Given the description of an element on the screen output the (x, y) to click on. 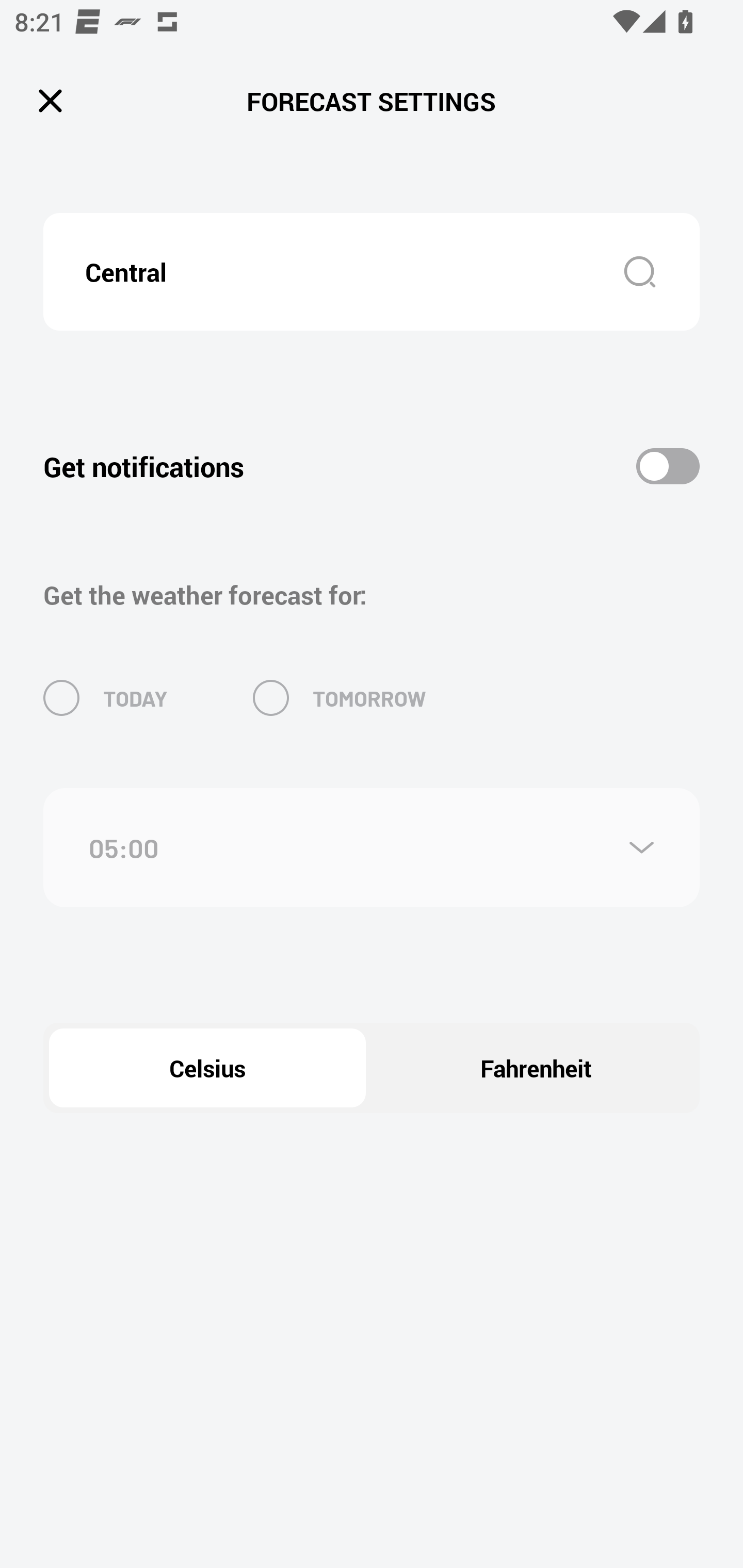
Leading Icon (50, 101)
Central Search Locations (371, 271)
TODAY (105, 697)
TOMORROW (339, 697)
05:00 Open Setting (371, 847)
Fahrenheit (535, 1067)
